Given the description of an element on the screen output the (x, y) to click on. 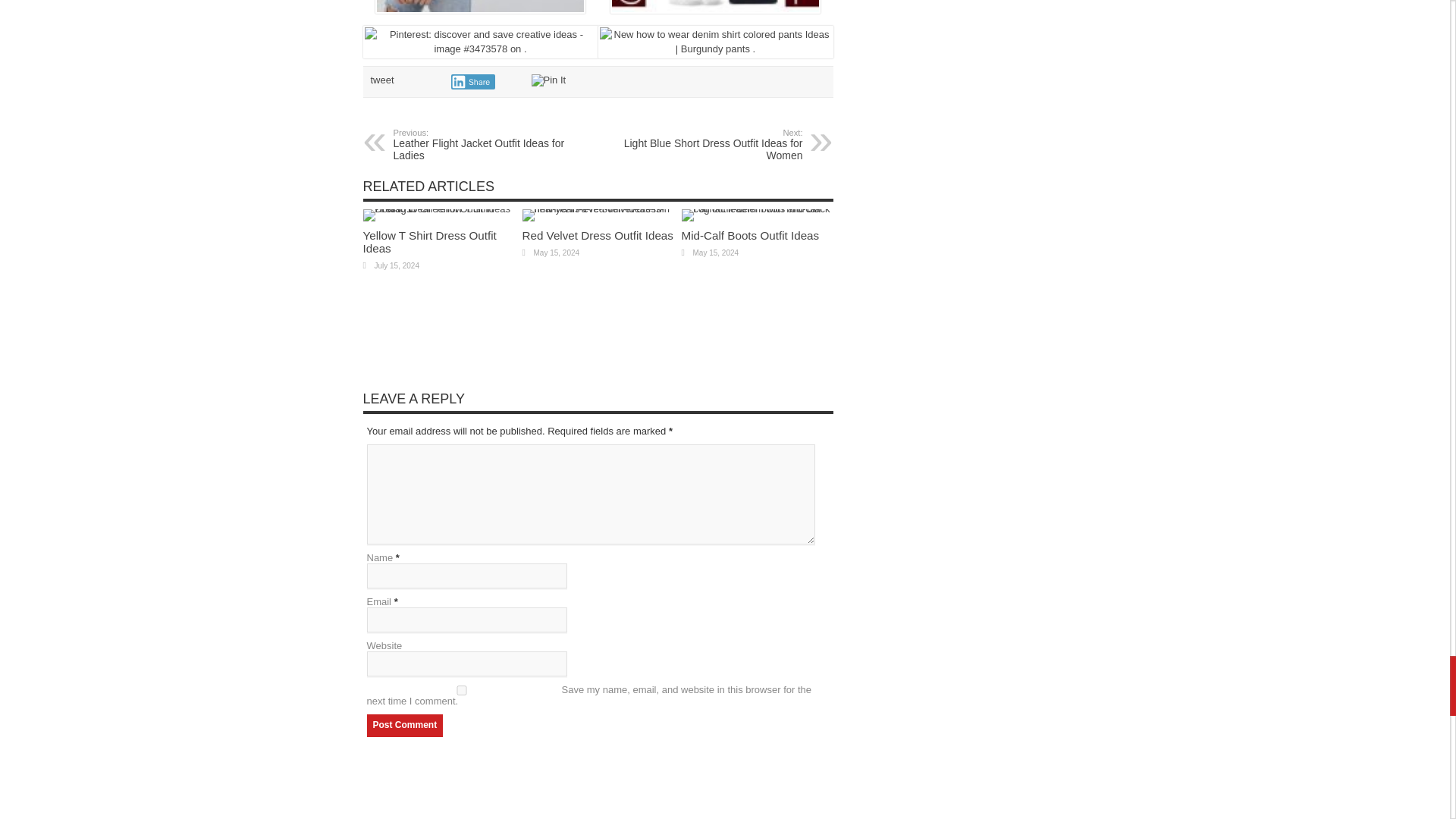
Permalink to Red Velvet Dress Outfit Ideas (596, 208)
Permalink to Mid-Calf Boots Outfit Ideas (756, 208)
tweet (381, 79)
Mid-Calf Boots Outfit Ideas (749, 235)
Yellow T Shirt Dress Outfit Ideas (437, 208)
Permalink to Mid-Calf Boots Outfit Ideas (429, 241)
Share (749, 235)
Post Comment (472, 81)
Post Comment (405, 725)
yes (710, 144)
Red Velvet Dress Outfit Ideas (405, 725)
